Given the description of an element on the screen output the (x, y) to click on. 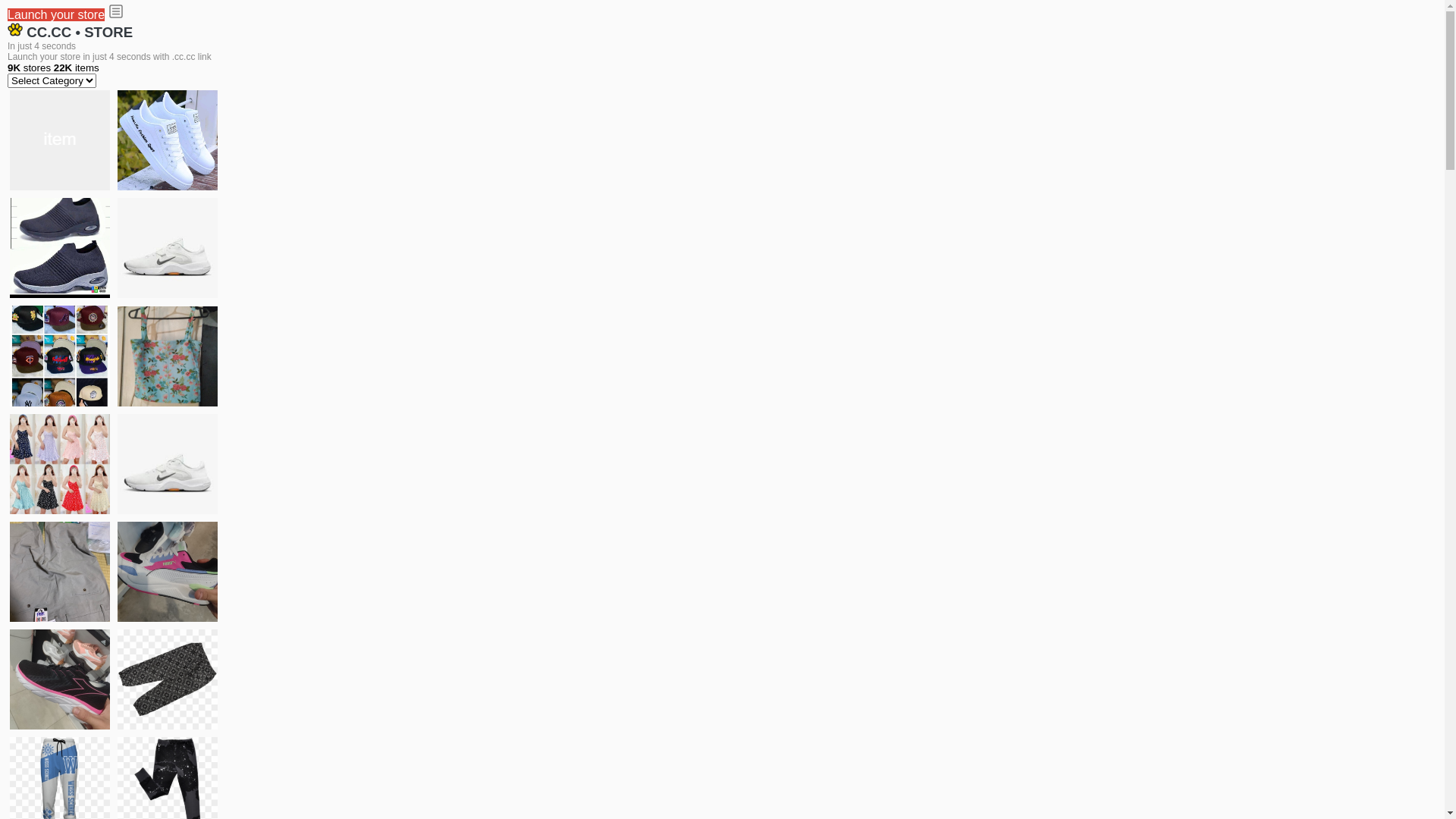
Short pant Element type: hover (167, 679)
jacket Element type: hover (59, 140)
shoes for boys Element type: hover (59, 247)
Zapatillas pumas Element type: hover (167, 571)
white shoes Element type: hover (167, 140)
Shoes Element type: hover (167, 464)
Launch your store Element type: text (55, 14)
Shoes for boys Element type: hover (167, 247)
Ukay cloth Element type: hover (167, 356)
Dress/square nect top Element type: hover (59, 464)
Things we need Element type: hover (59, 355)
Zapatillas Element type: hover (59, 679)
